Given the description of an element on the screen output the (x, y) to click on. 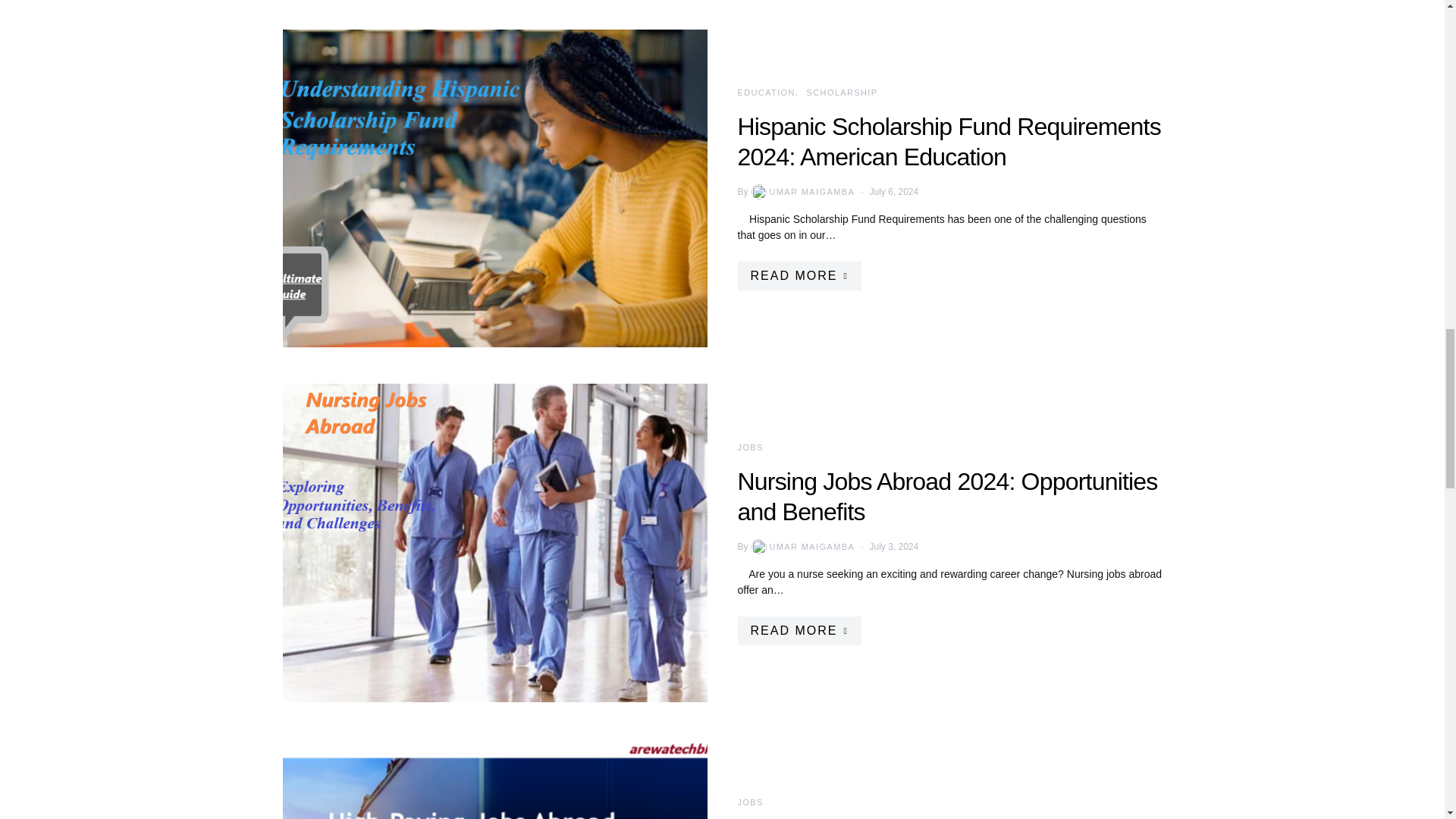
EDUCATION (765, 92)
SCHOLARSHIP (841, 92)
View all posts by Umar Maigamba (802, 191)
View all posts by Umar Maigamba (802, 546)
